Given the description of an element on the screen output the (x, y) to click on. 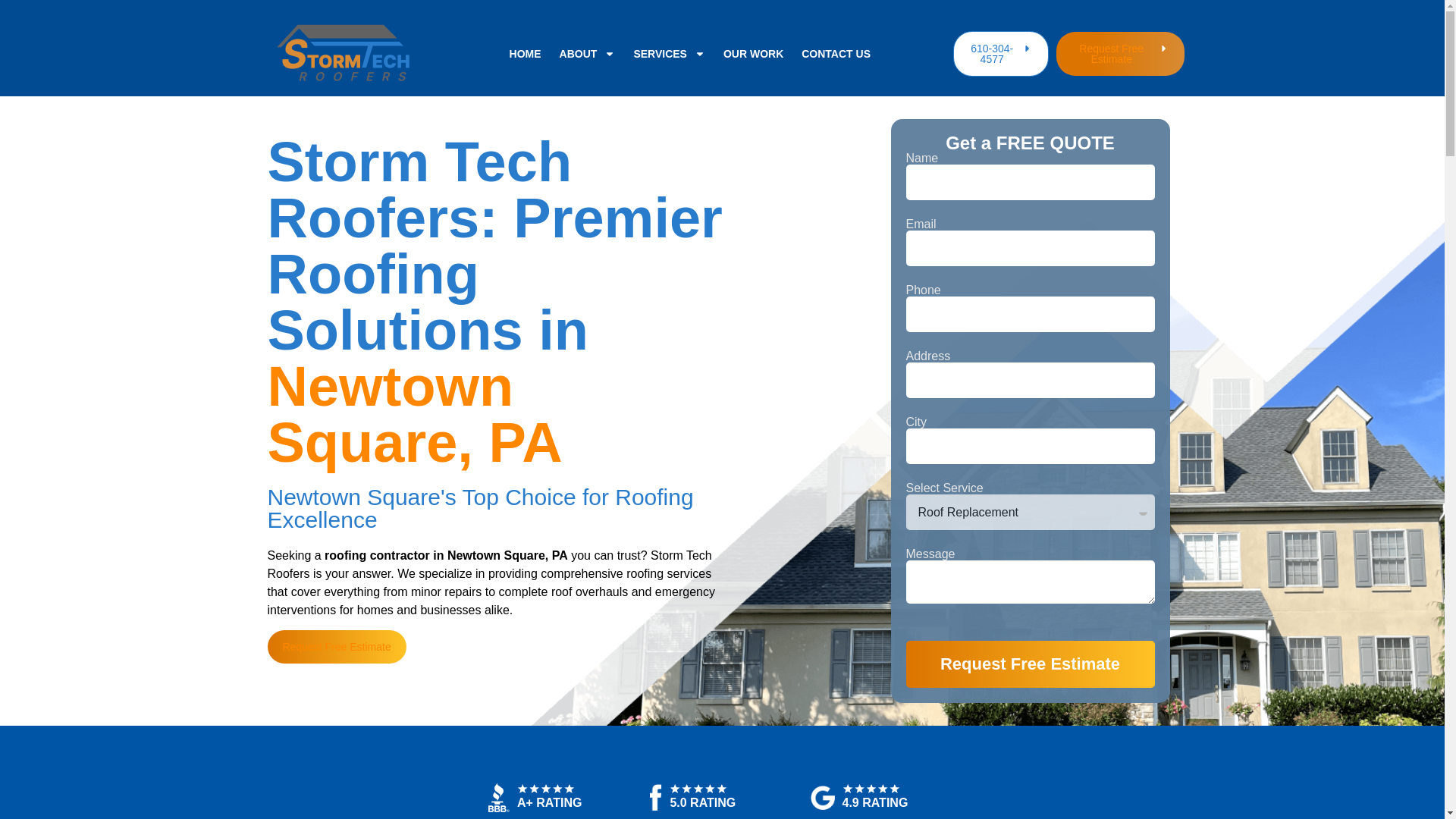
Newtown Square 3 (655, 796)
Request Free Estimate (1029, 663)
Newtown Square 2 (697, 788)
Newtown Square 2 (870, 788)
HOME (525, 53)
Request Free Estimate (1121, 53)
Newtown Square 1 (498, 797)
SERVICES (668, 53)
CONTACT US (836, 53)
610-304-4577 (1000, 53)
Request Free Estimate (336, 646)
Newtown Square 2 (545, 788)
Newtown Square 5 (822, 797)
ABOUT (587, 53)
OUR WORK (753, 53)
